Given the description of an element on the screen output the (x, y) to click on. 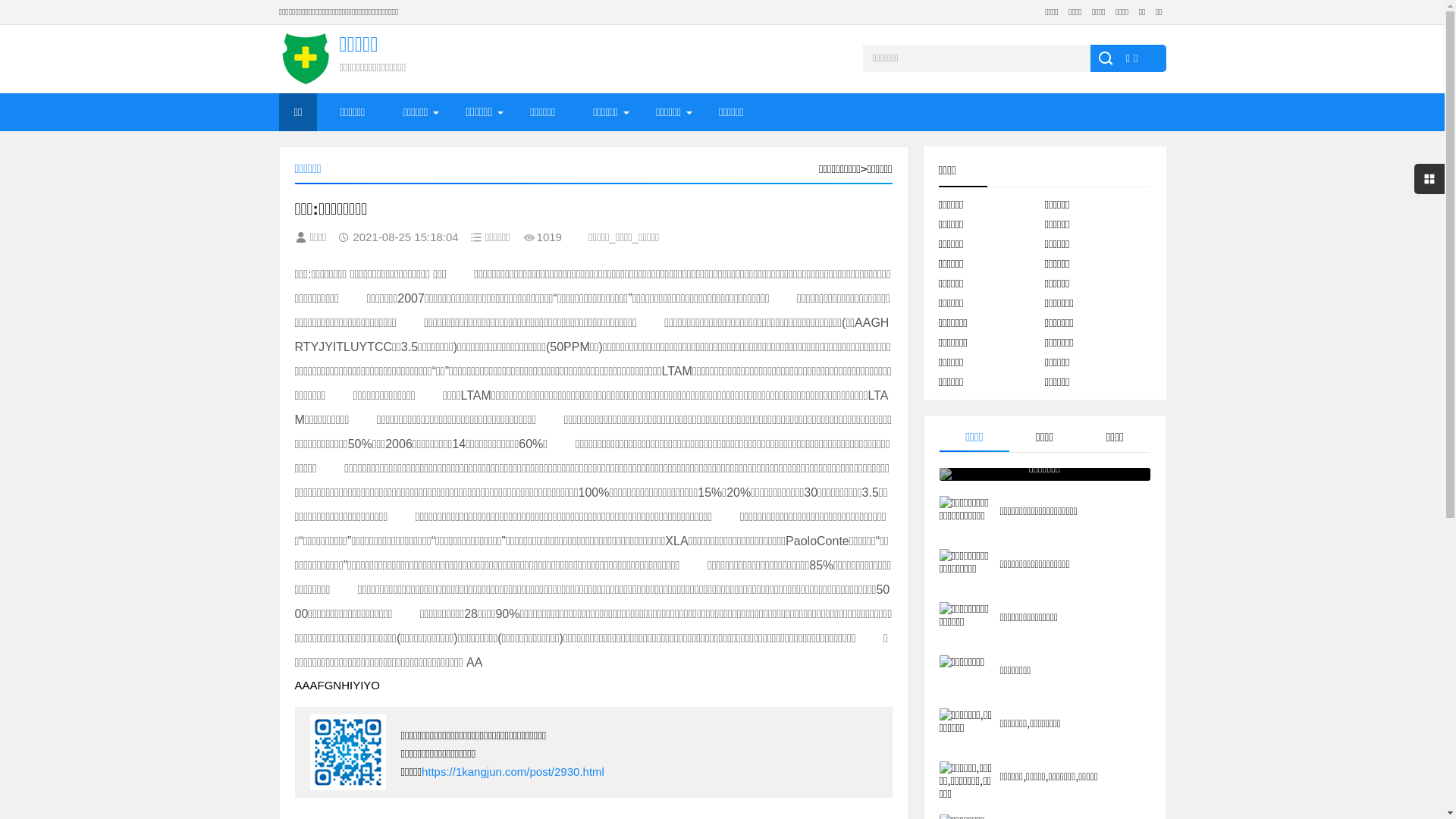
https://1kangjun.com/post/2930.html Element type: text (512, 771)
